Given the description of an element on the screen output the (x, y) to click on. 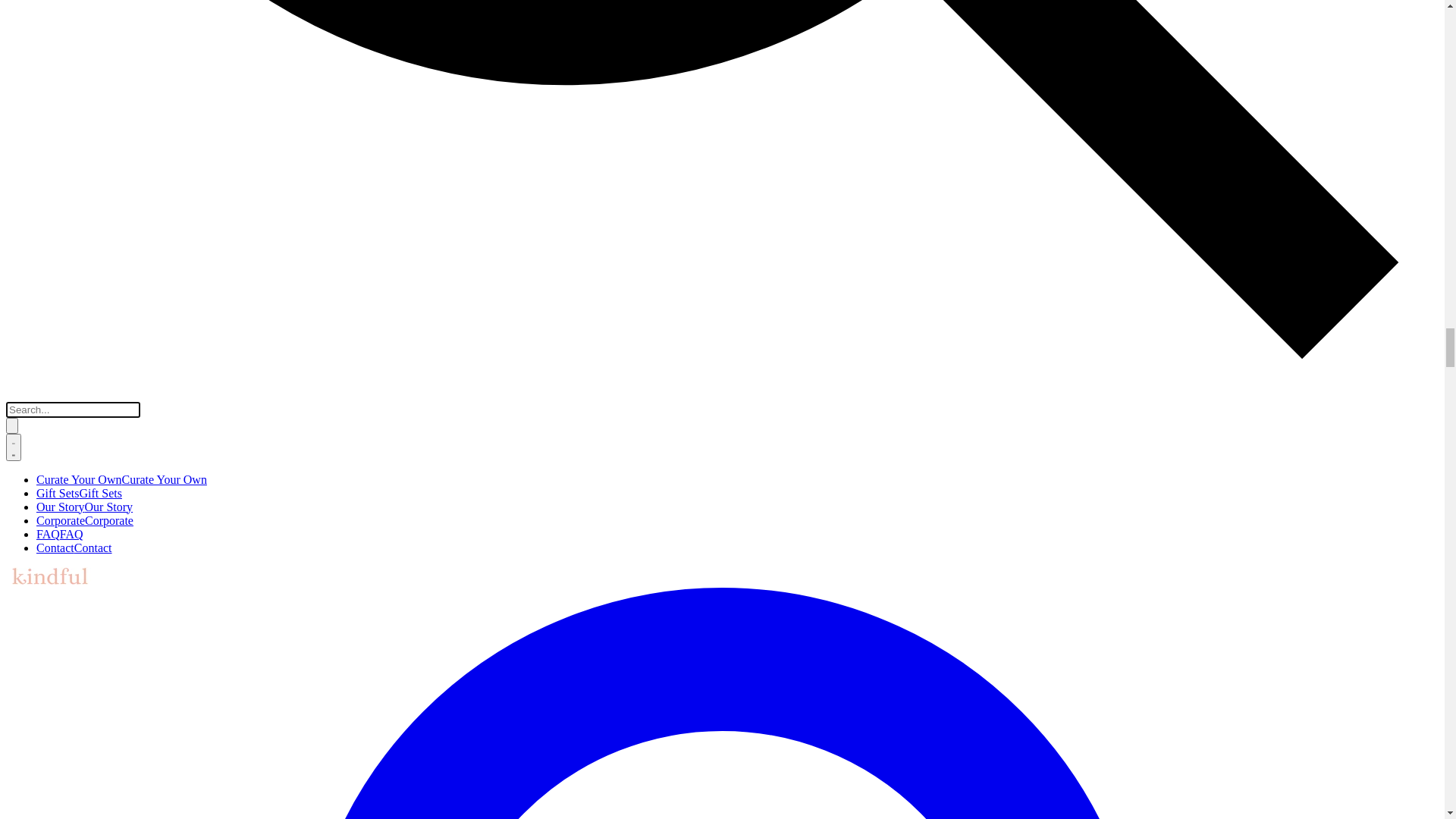
Corporate Element type: text (30, 82)
Our Story Element type: text (30, 68)
Skip to content Element type: text (42, 12)
Contact Element type: text (24, 109)
FAQ Element type: text (17, 96)
Curate Your Own Element type: text (48, 41)
Gift Sets Element type: text (27, 55)
Account Element type: text (56, 135)
